Given the description of an element on the screen output the (x, y) to click on. 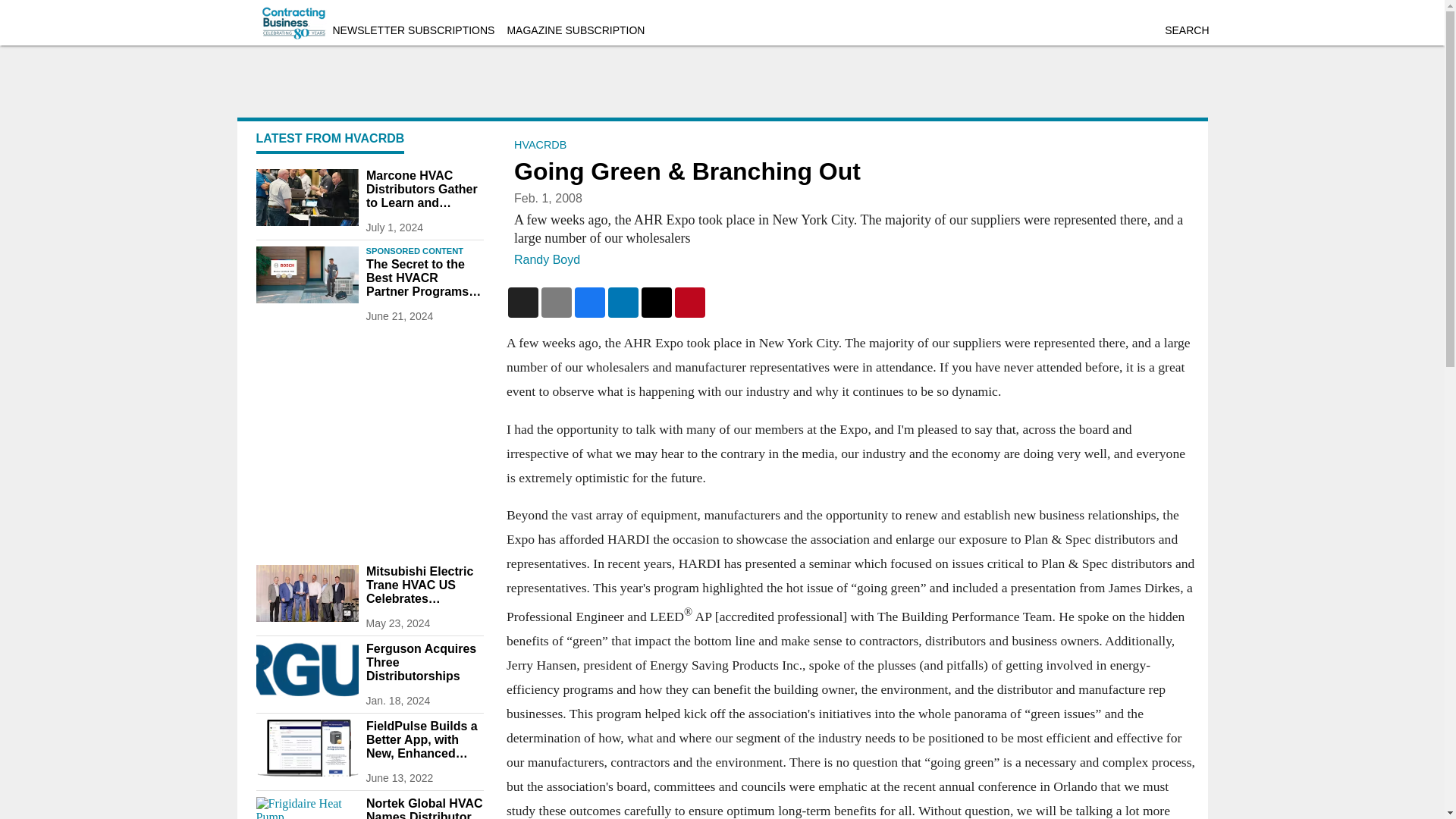
Marcone HVAC Distributors Gather to Learn and Network (424, 188)
Frigidaire Heat Pump (307, 807)
HVACRDB (539, 144)
Randy Boyd (546, 259)
FieldPulse Builds a Better App, with New, Enhanced Features (424, 739)
SEARCH (1186, 30)
Nortek Global HVAC Names Distributor for DFW Metro (424, 807)
MAGAZINE SUBSCRIPTION (575, 30)
Ferguson Acquires Three Distributorships (424, 662)
NEWSLETTER SUBSCRIPTIONS (413, 30)
